Given the description of an element on the screen output the (x, y) to click on. 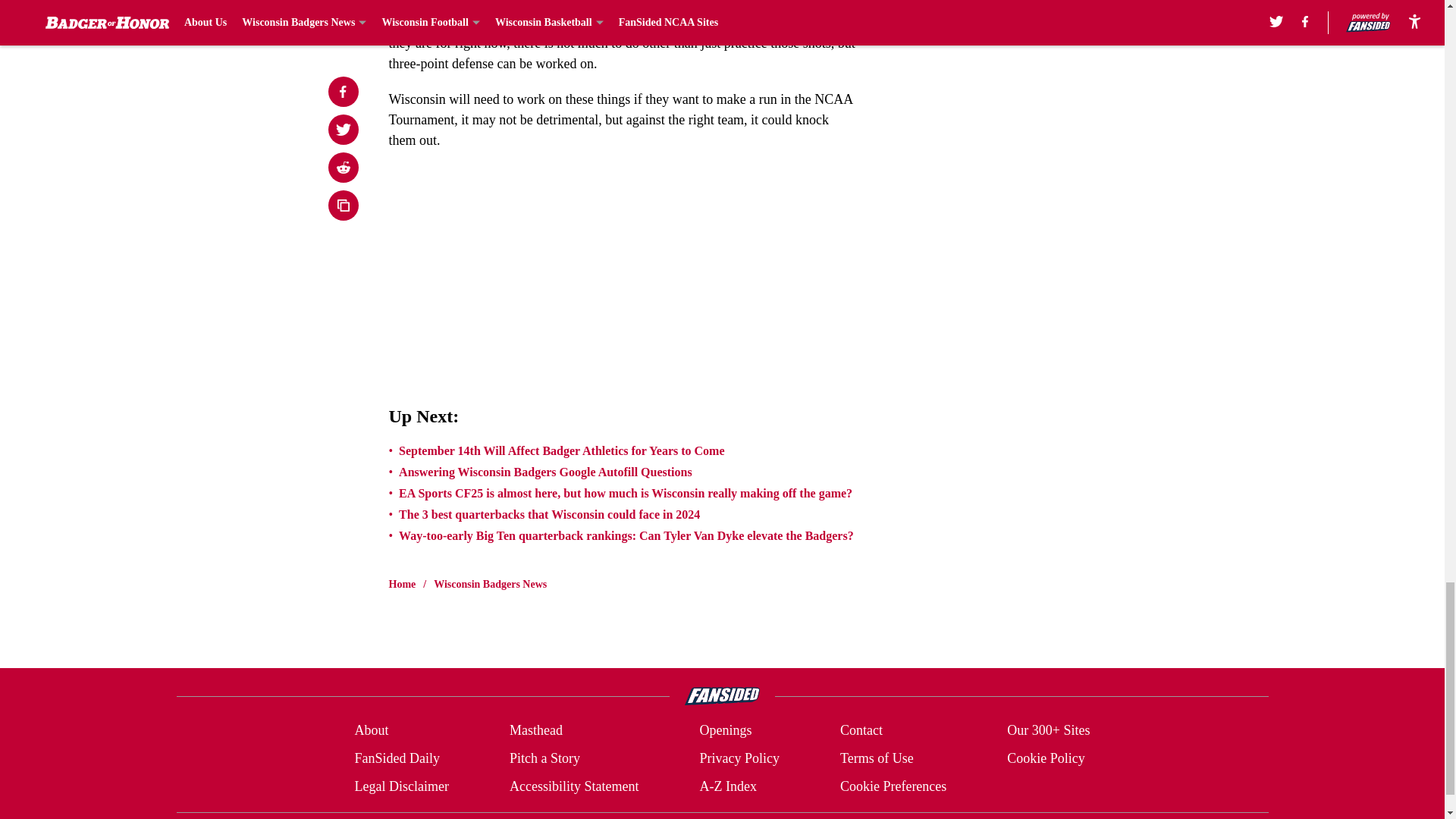
Openings (724, 730)
Home (401, 584)
Contact (861, 730)
Masthead (535, 730)
Wisconsin Badgers News (490, 584)
Answering Wisconsin Badgers Google Autofill Questions (545, 472)
The 3 best quarterbacks that Wisconsin could face in 2024 (549, 514)
About (370, 730)
